Given the description of an element on the screen output the (x, y) to click on. 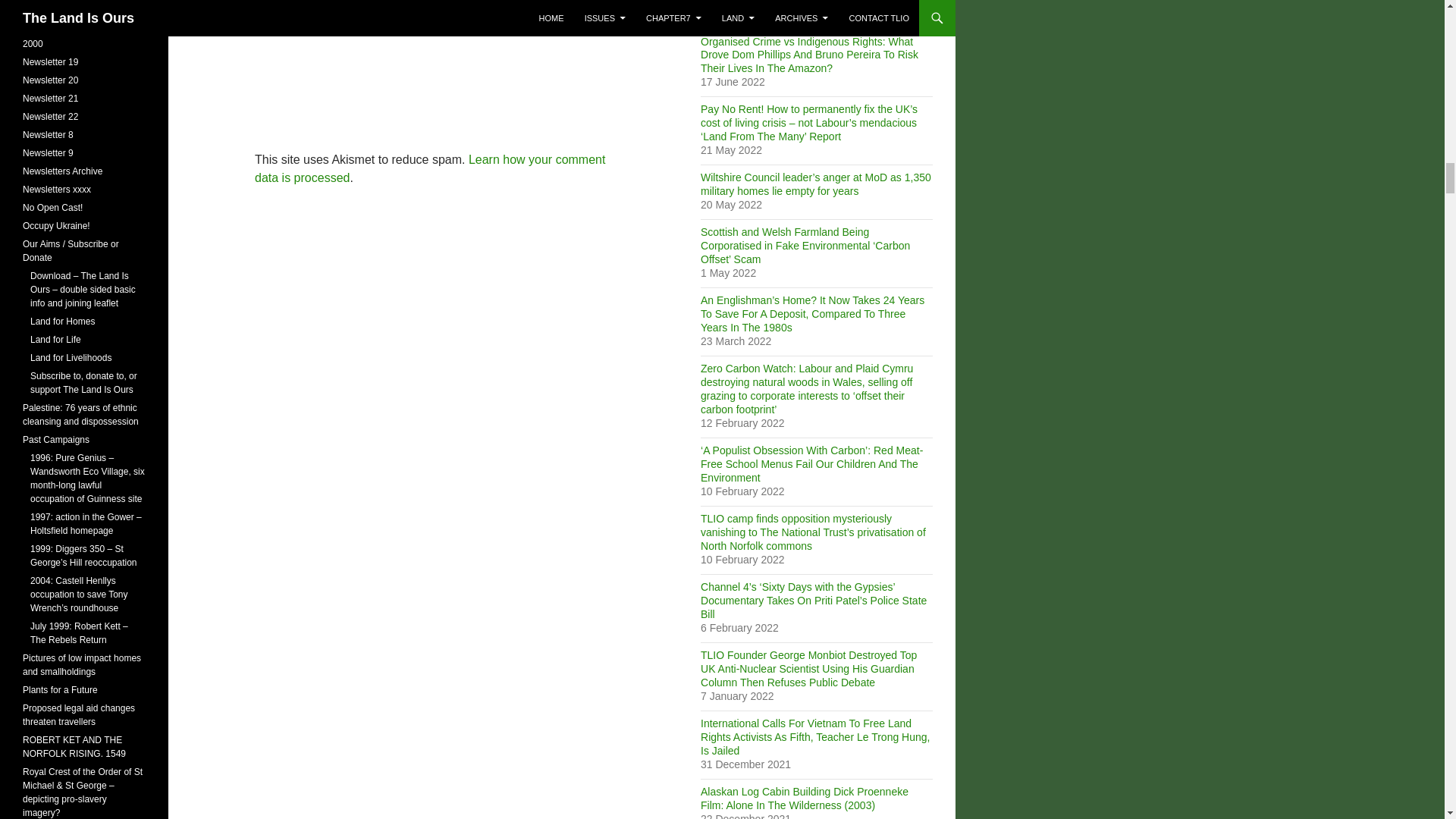
Comment Form (434, 54)
